Given the description of an element on the screen output the (x, y) to click on. 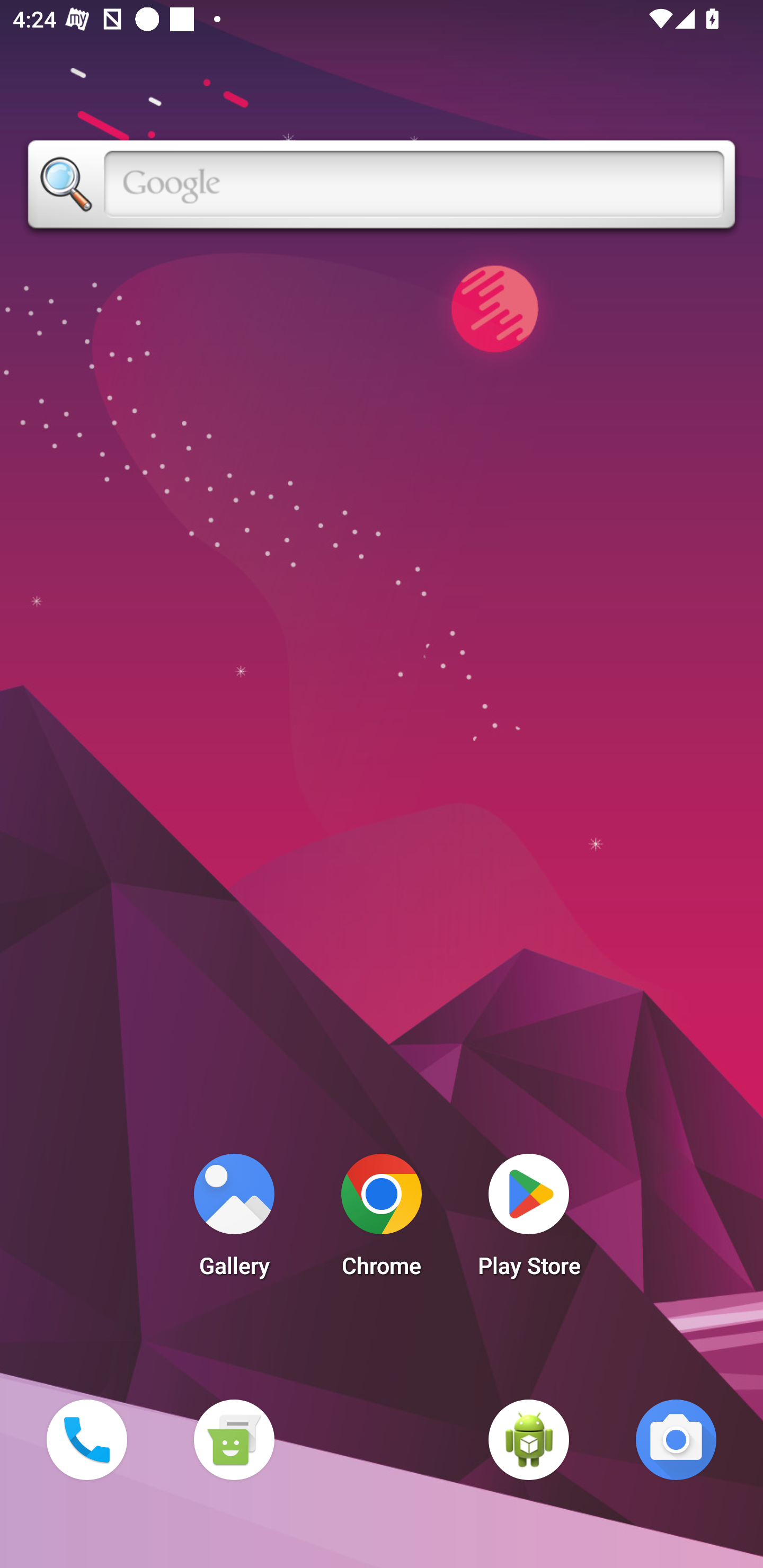
Gallery (233, 1220)
Chrome (381, 1220)
Play Store (528, 1220)
Phone (86, 1439)
Messaging (233, 1439)
WebView Browser Tester (528, 1439)
Camera (676, 1439)
